Given the description of an element on the screen output the (x, y) to click on. 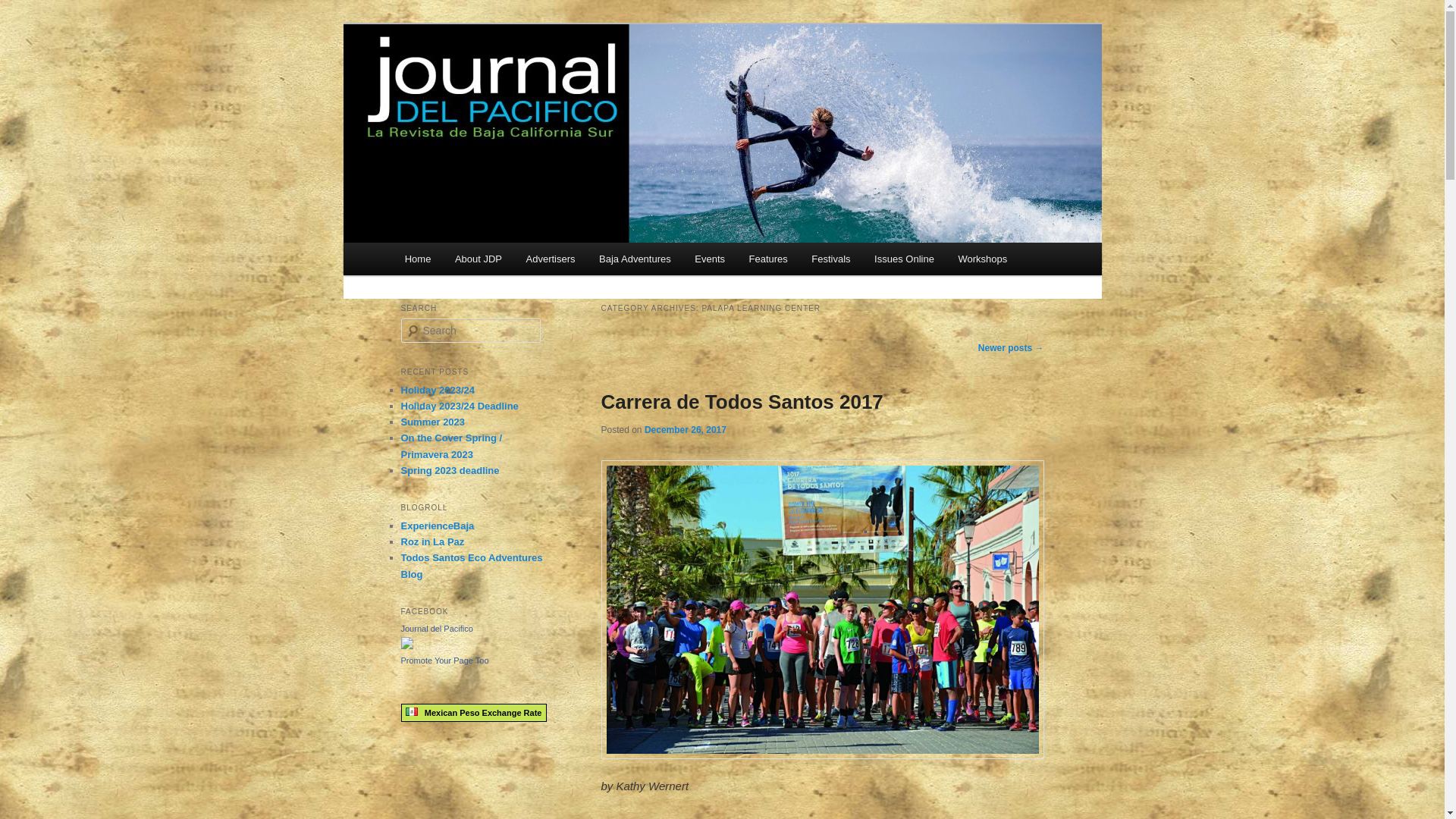
Journal del Pacifico (406, 645)
Journal del Pacifico (507, 78)
Features (767, 258)
Home (417, 258)
Journal del Pacifico (435, 628)
About JDP (477, 258)
10:13 am (685, 429)
Posts from a Pacific Paradise (470, 565)
Advertisers (550, 258)
Journal del Pacifico (507, 78)
Make your own badge! (443, 660)
Mexican Peso Exchange Rate (473, 712)
Baja Adventures (634, 258)
